Given the description of an element on the screen output the (x, y) to click on. 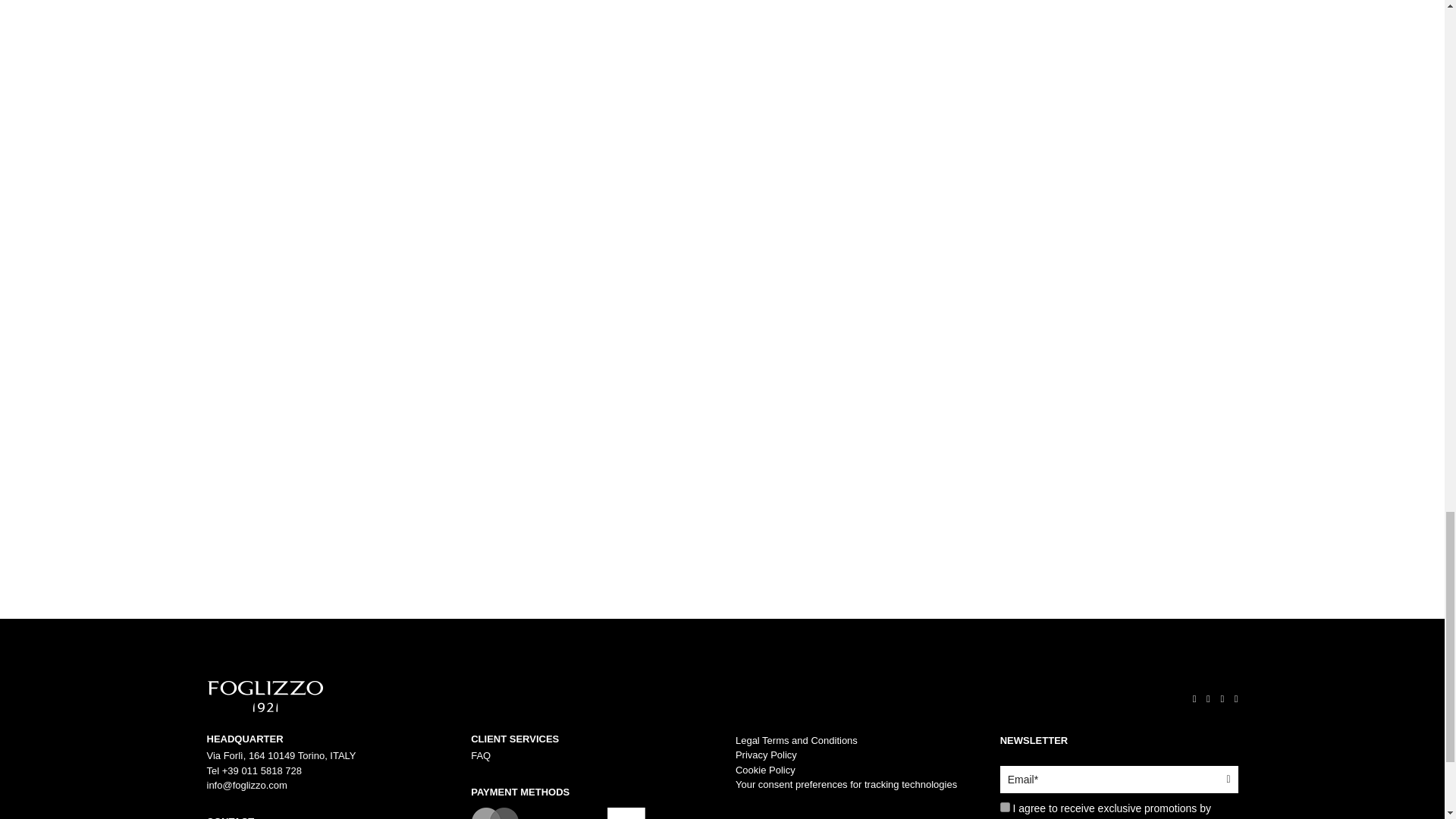
Terms and Conditions (796, 740)
Cookie Policy (764, 769)
on (1005, 807)
CONTACT (325, 817)
Privacy Policy (765, 754)
FAQ (480, 755)
